Given the description of an element on the screen output the (x, y) to click on. 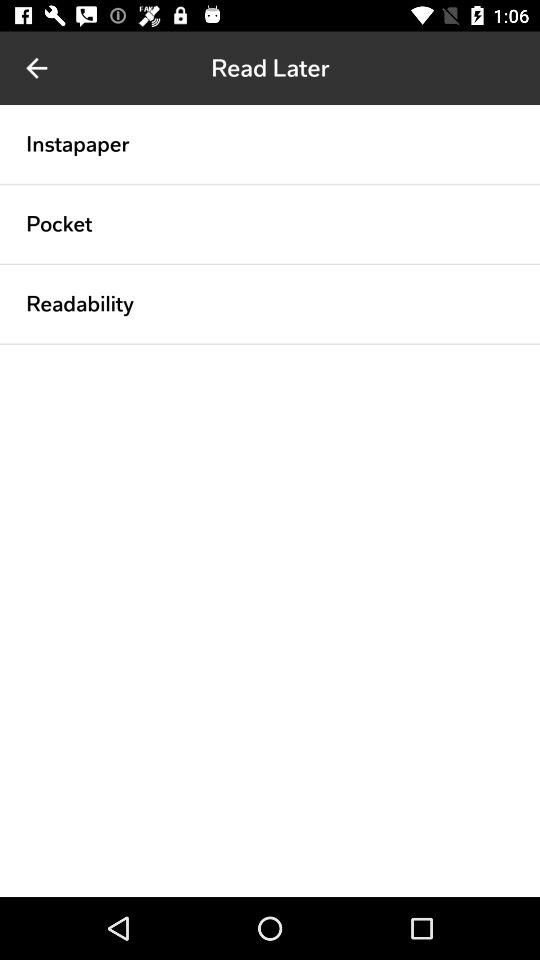
choose the readability (79, 303)
